Given the description of an element on the screen output the (x, y) to click on. 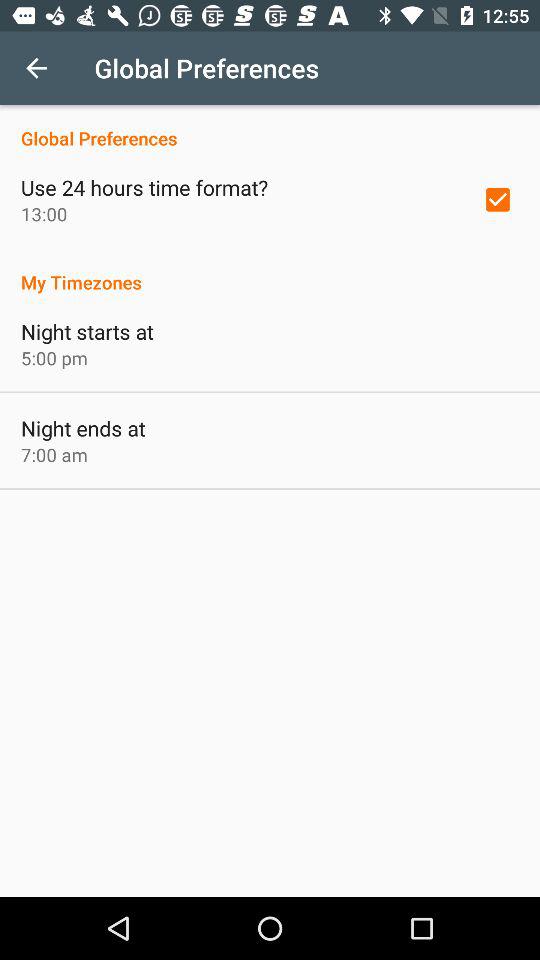
tap the item above the my timezones icon (497, 199)
